Given the description of an element on the screen output the (x, y) to click on. 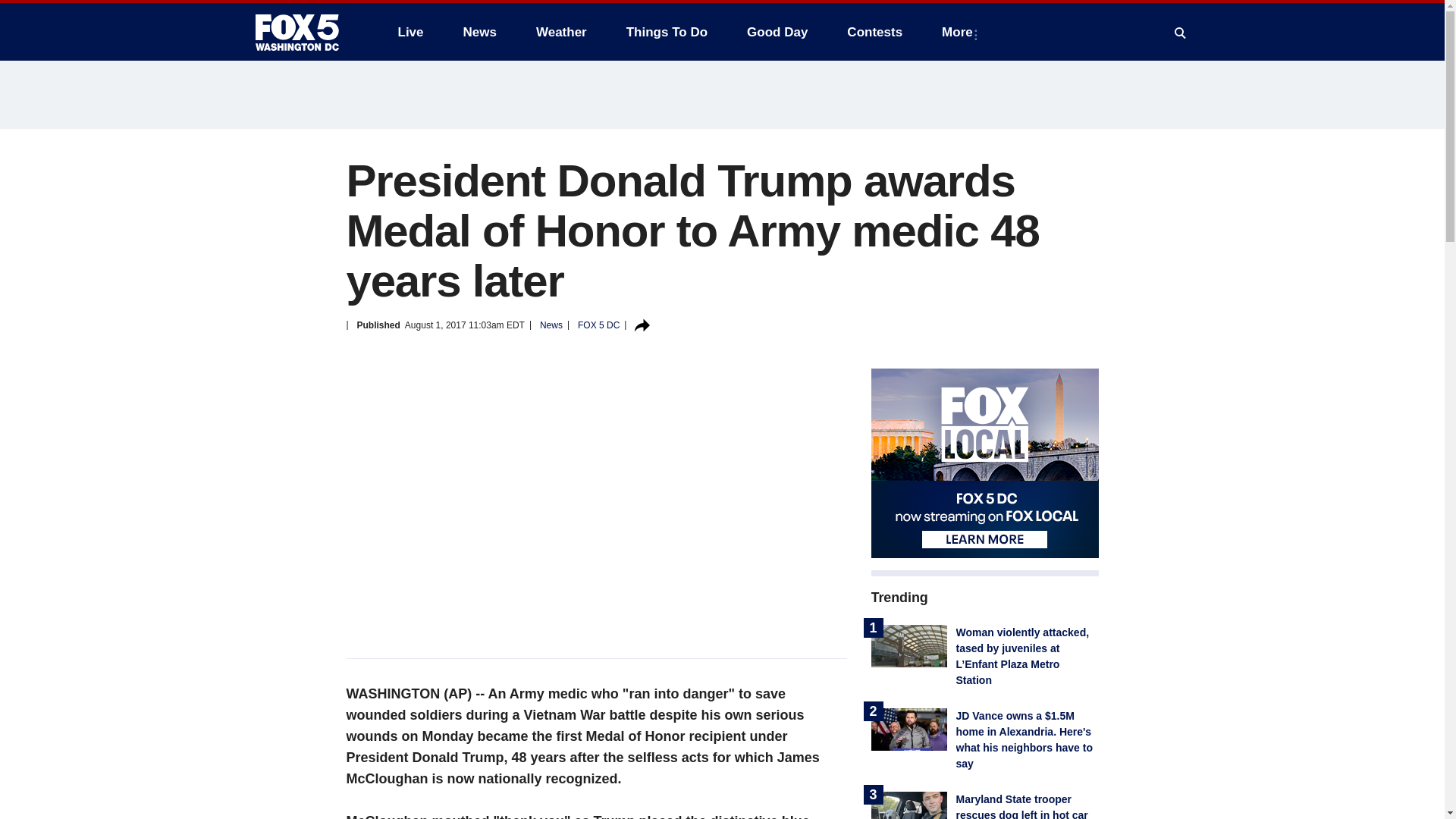
Live (410, 32)
Good Day (777, 32)
Contests (874, 32)
Things To Do (666, 32)
Weather (561, 32)
More (960, 32)
News (479, 32)
